Given the description of an element on the screen output the (x, y) to click on. 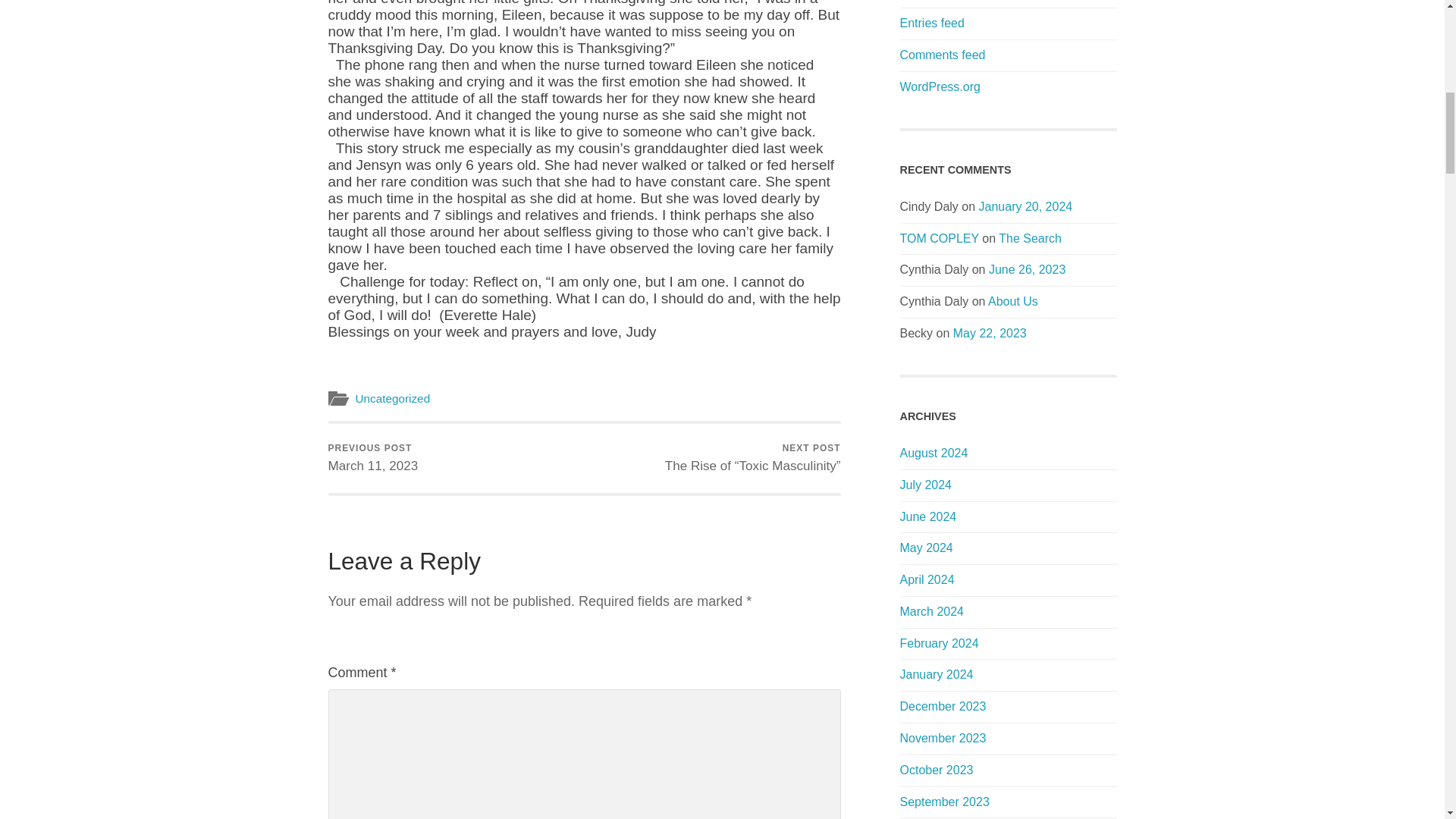
WordPress.org (939, 86)
January 20, 2024 (1025, 205)
The Search (1029, 237)
TOM COPLEY (938, 237)
Uncategorized (392, 398)
Comments feed (372, 458)
Entries feed (942, 54)
